Given the description of an element on the screen output the (x, y) to click on. 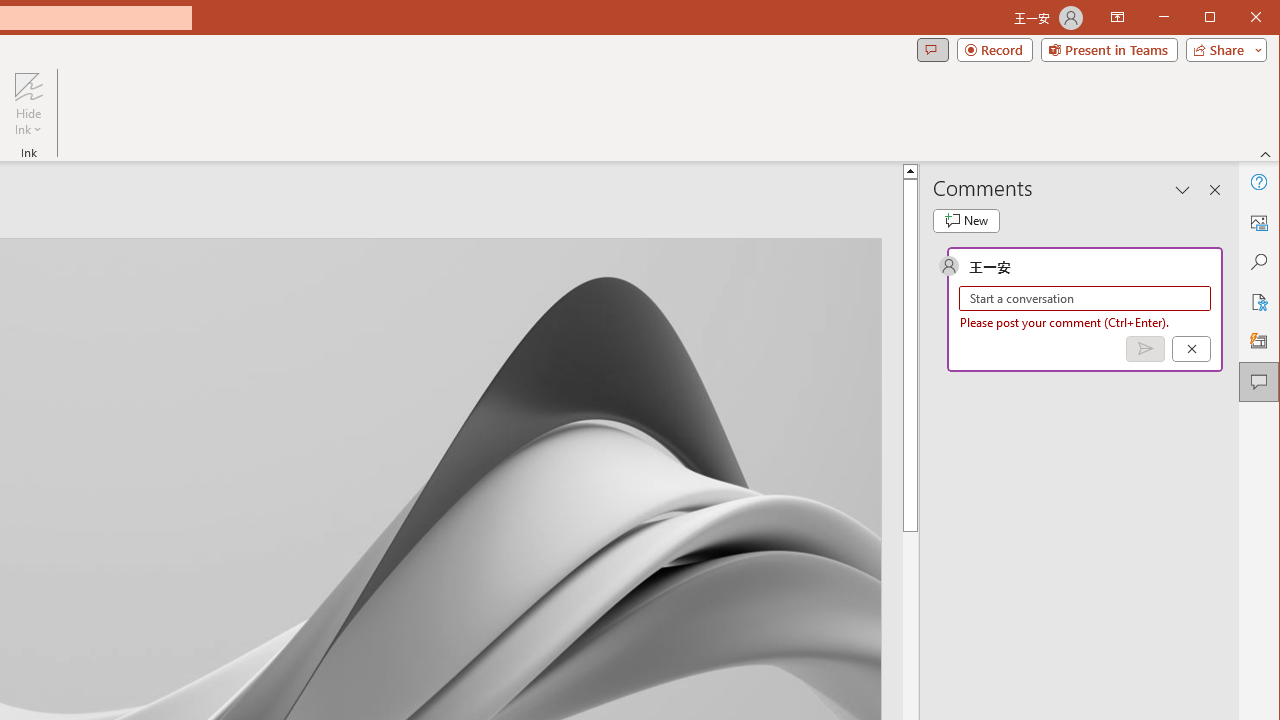
Post comment (Ctrl + Enter) (1145, 349)
New comment (966, 220)
